Given the description of an element on the screen output the (x, y) to click on. 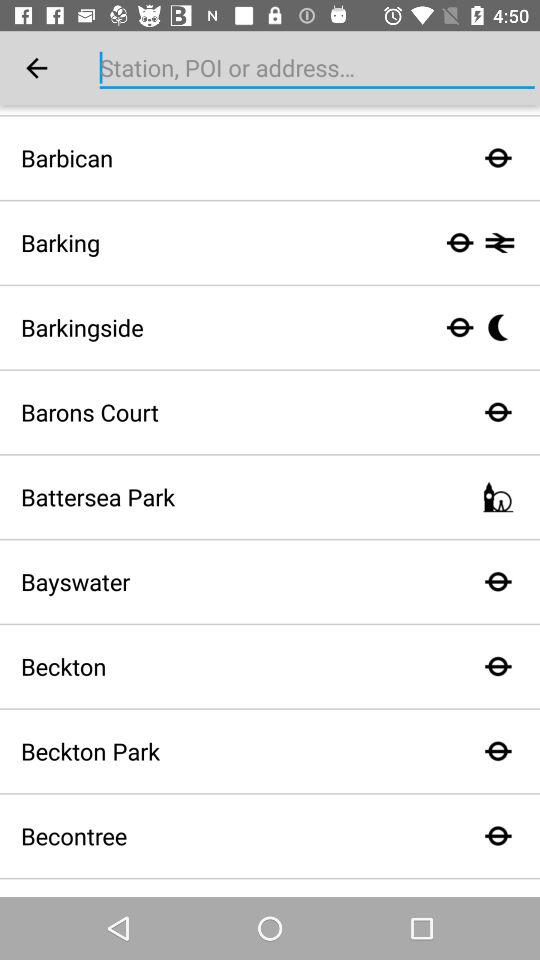
turn on icon at the top (317, 67)
